Given the description of an element on the screen output the (x, y) to click on. 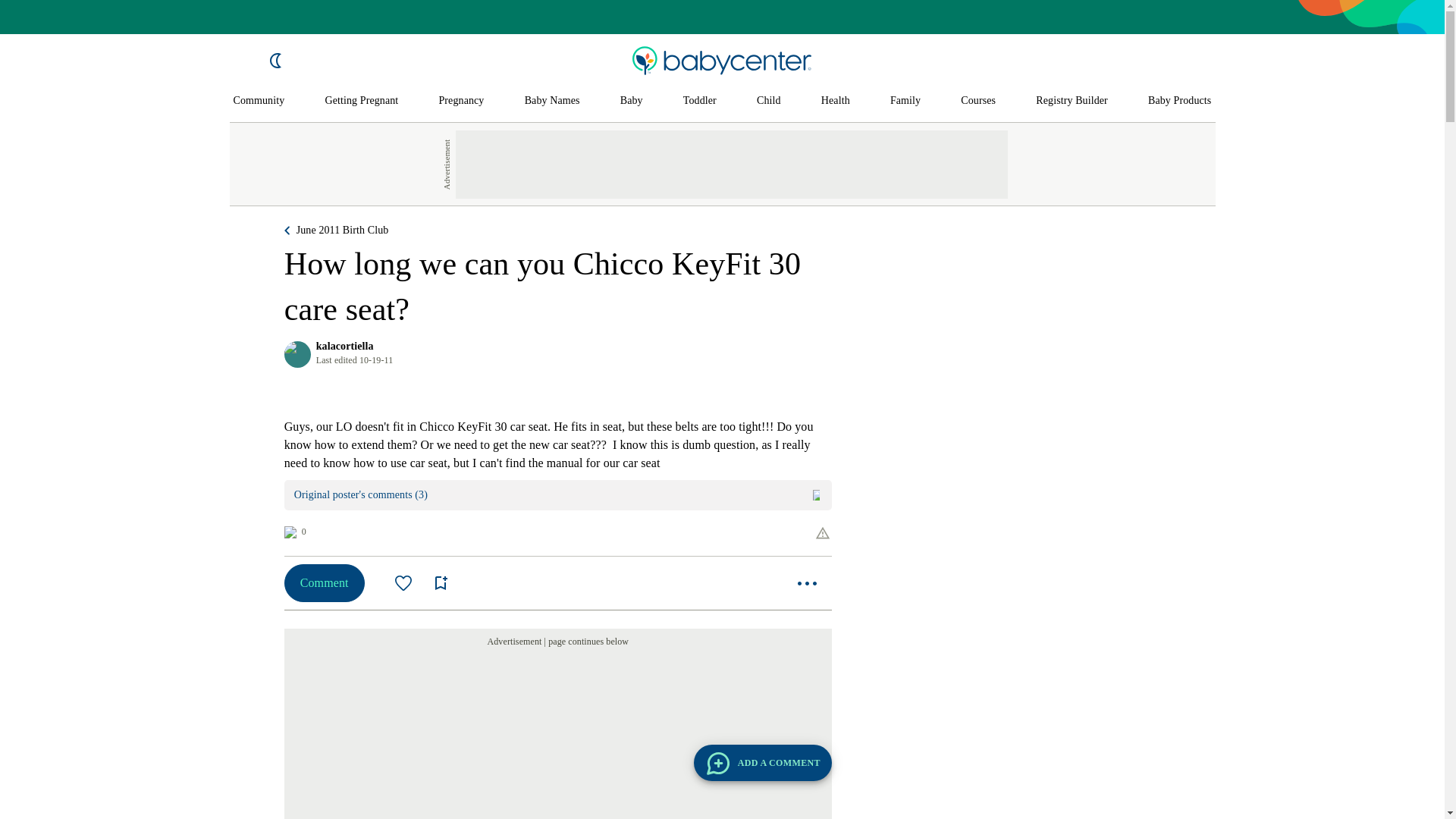
Family (904, 101)
Health (835, 101)
Pregnancy (460, 101)
Baby Products (1179, 101)
Toddler (699, 101)
Community (258, 101)
Baby Names (551, 101)
Courses (977, 101)
Baby (631, 101)
Getting Pregnant (360, 101)
Child (768, 101)
Registry Builder (1071, 101)
